Given the description of an element on the screen output the (x, y) to click on. 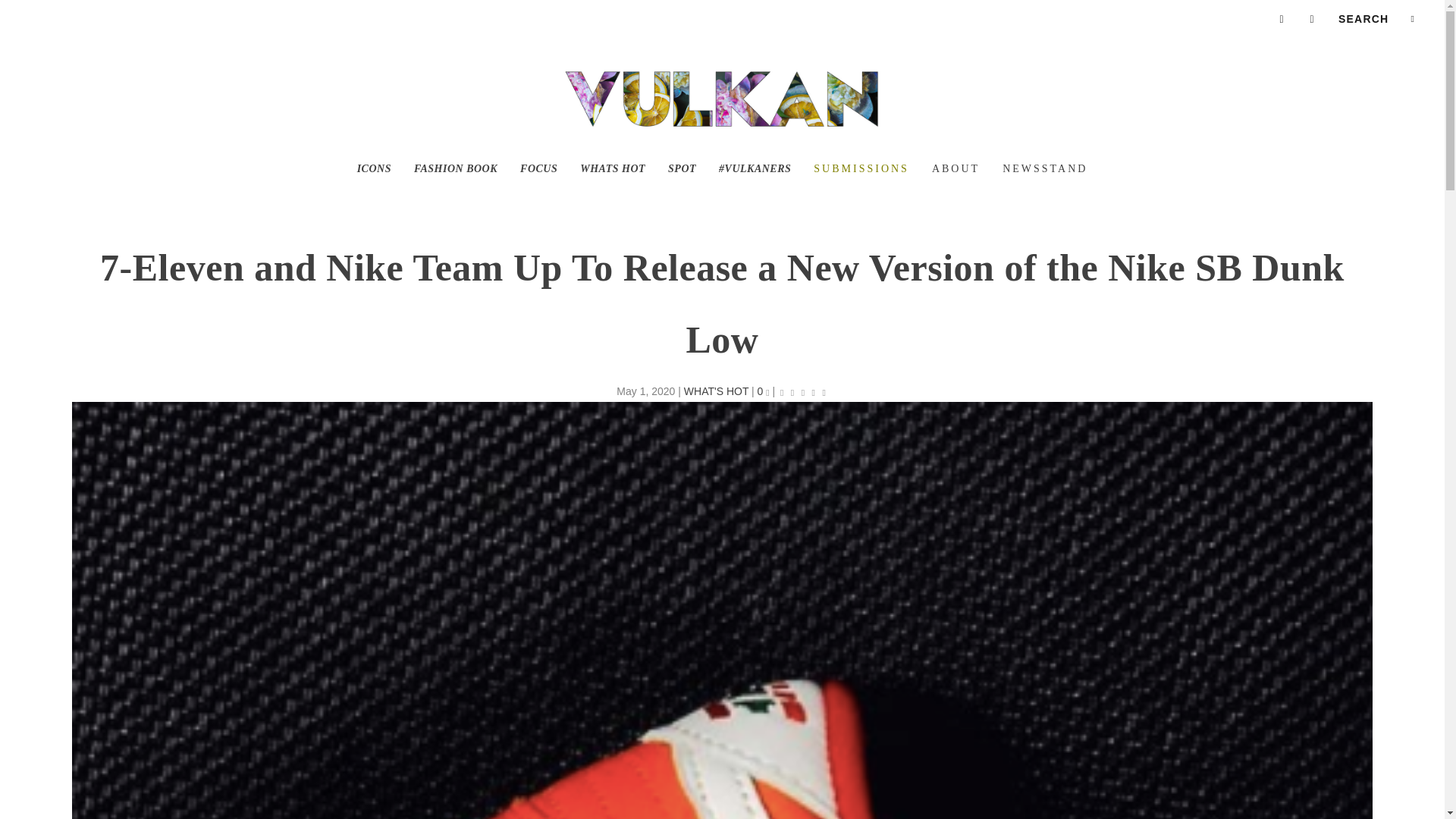
WHAT'S HOT (716, 390)
FASHION BOOK (455, 193)
NEWSSTAND (1045, 193)
WHATS HOT (612, 193)
0 (763, 390)
Rating: 0.00 (802, 392)
SUBMISSIONS (860, 193)
Search for: (1376, 18)
